Given the description of an element on the screen output the (x, y) to click on. 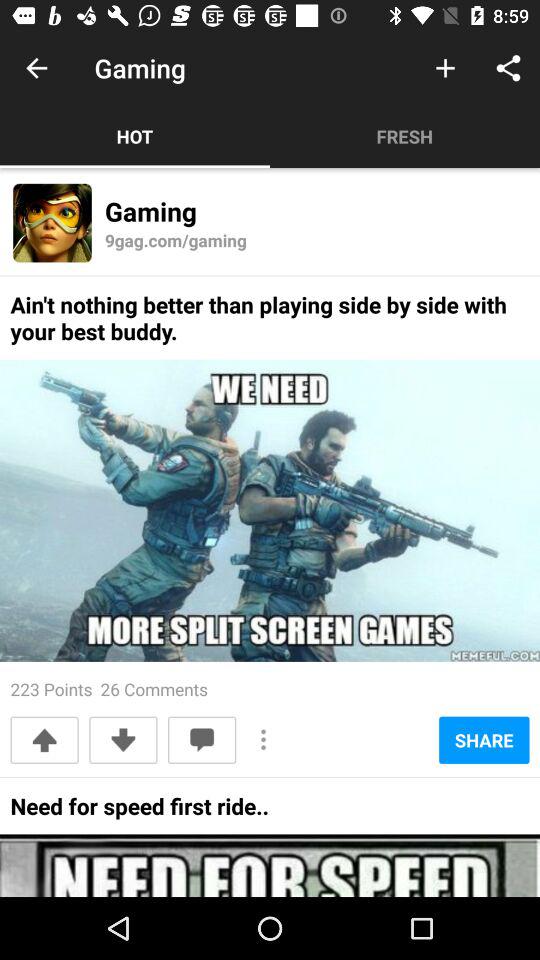
turn on the need for speed item (139, 812)
